Given the description of an element on the screen output the (x, y) to click on. 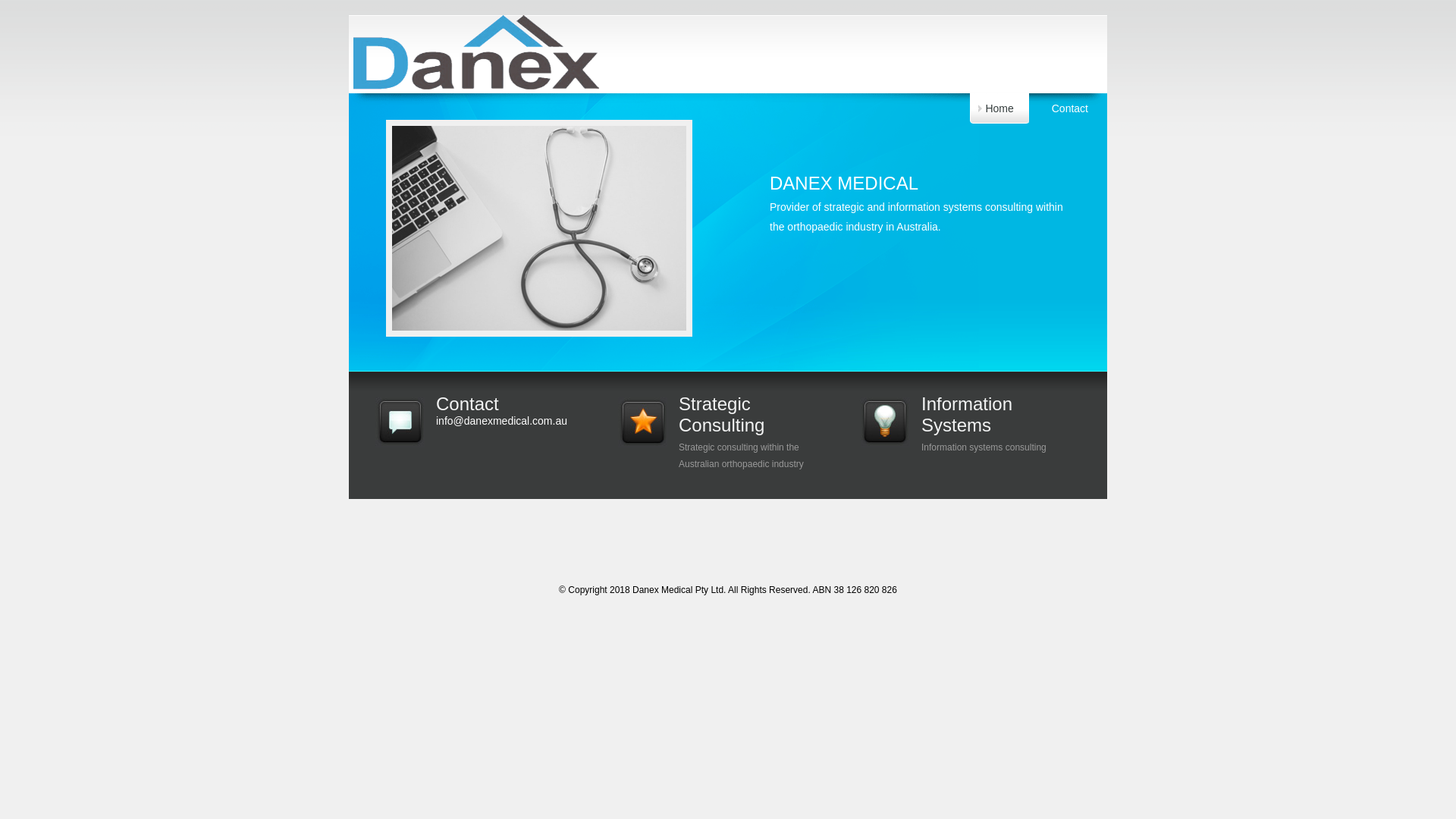
Contact Element type: text (1069, 108)
info@danexmedical.com.au Element type: text (501, 420)
Home Element type: text (998, 108)
